Given the description of an element on the screen output the (x, y) to click on. 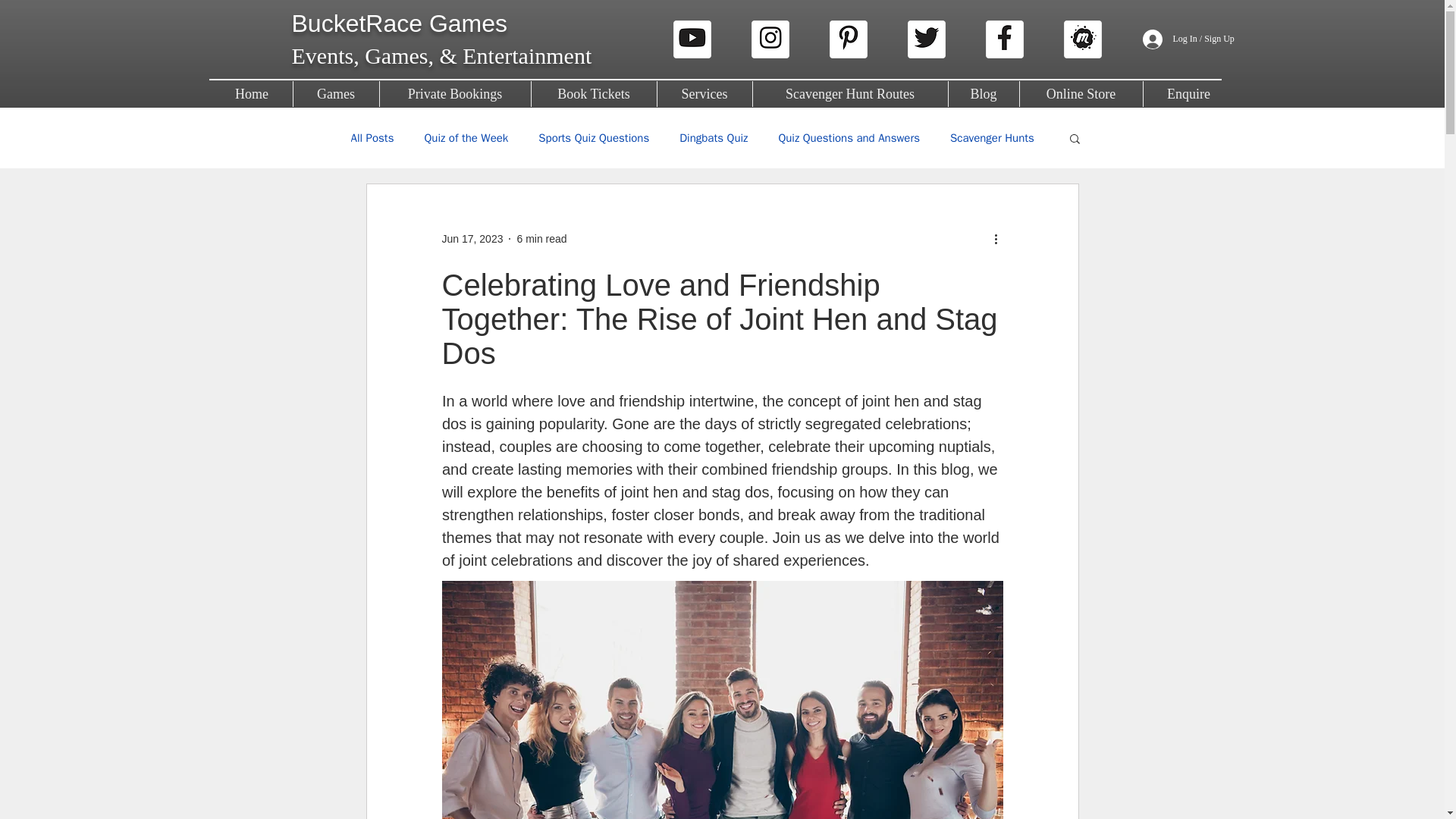
Instagram.png (770, 39)
Twitter.png (925, 39)
YouTube.png (691, 39)
Quiz Questions and Answers (848, 137)
Dingbats Quiz (713, 137)
Jun 17, 2023 (471, 237)
Sports Quiz Questions (593, 137)
Online Store (1080, 94)
Blog (982, 94)
Facebook.png (1004, 39)
Home (251, 94)
Scavenger Hunts (991, 137)
Pinterest.png (848, 39)
Enquire (1188, 94)
Meet-Up.png (1081, 39)
